Given the description of an element on the screen output the (x, y) to click on. 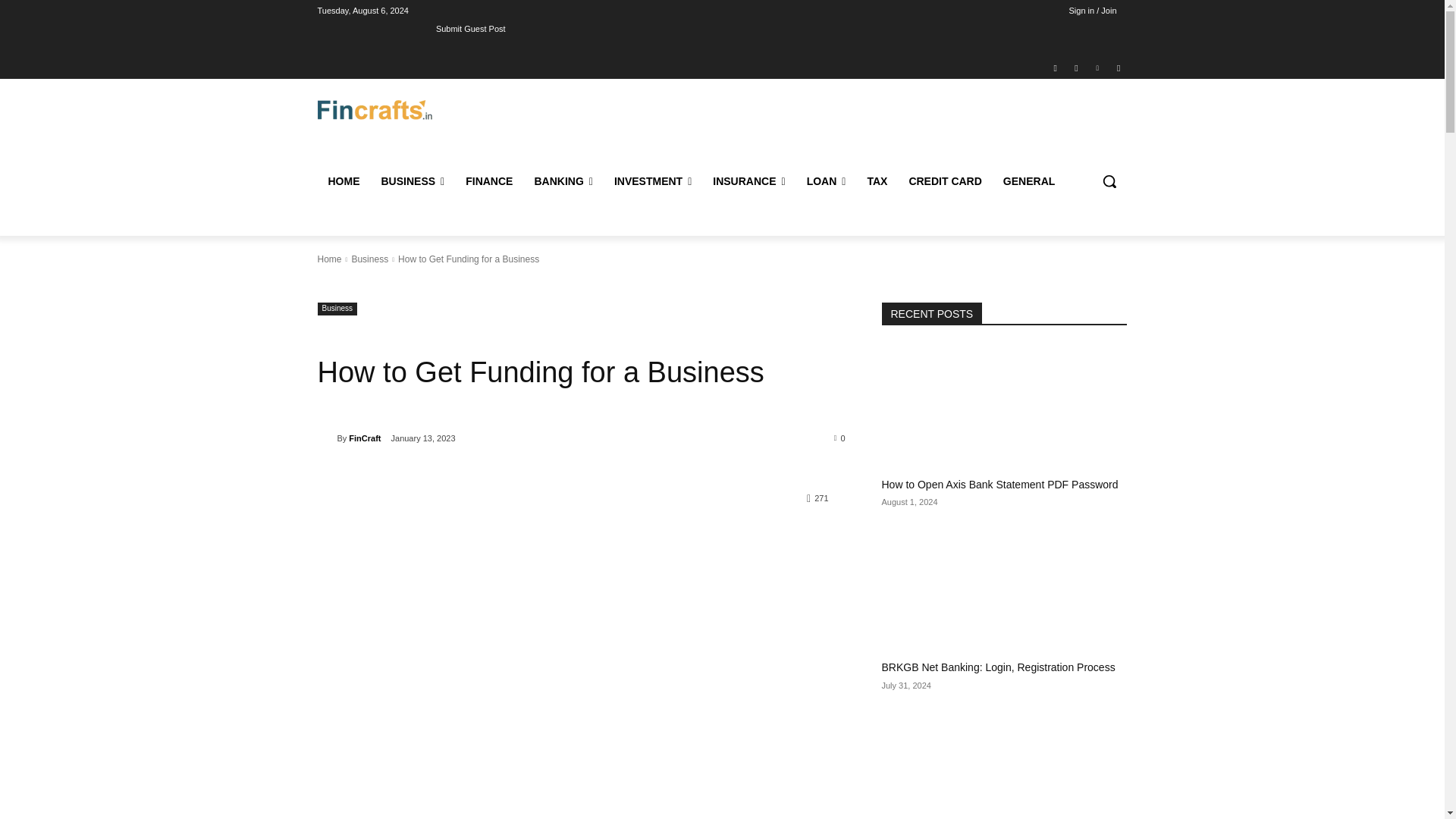
Facebook (1055, 67)
Submit Guest Post (470, 28)
Twitter (1117, 67)
View all posts in Business (369, 258)
FinCraft (326, 437)
Linkedin (1097, 67)
Instagram (1075, 67)
